Given the description of an element on the screen output the (x, y) to click on. 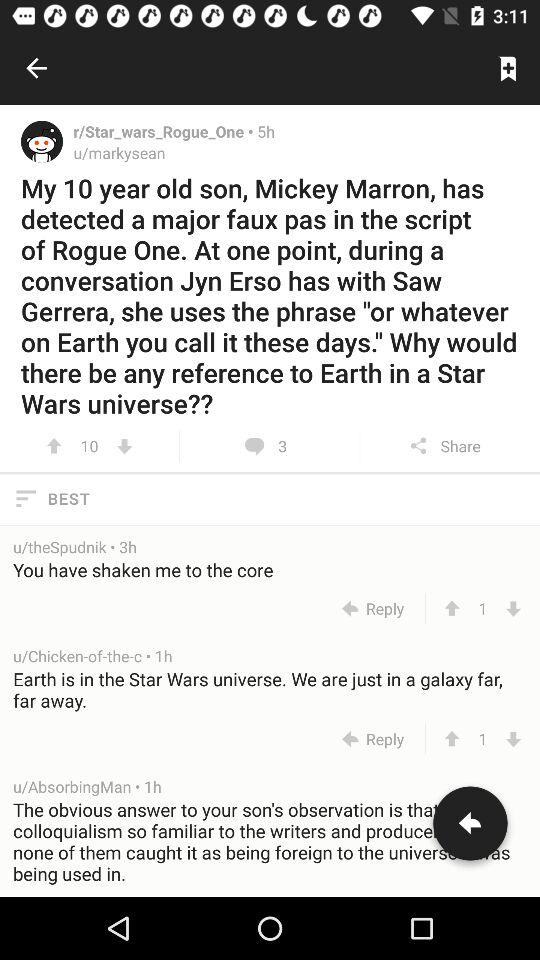
vote down button (513, 608)
